Given the description of an element on the screen output the (x, y) to click on. 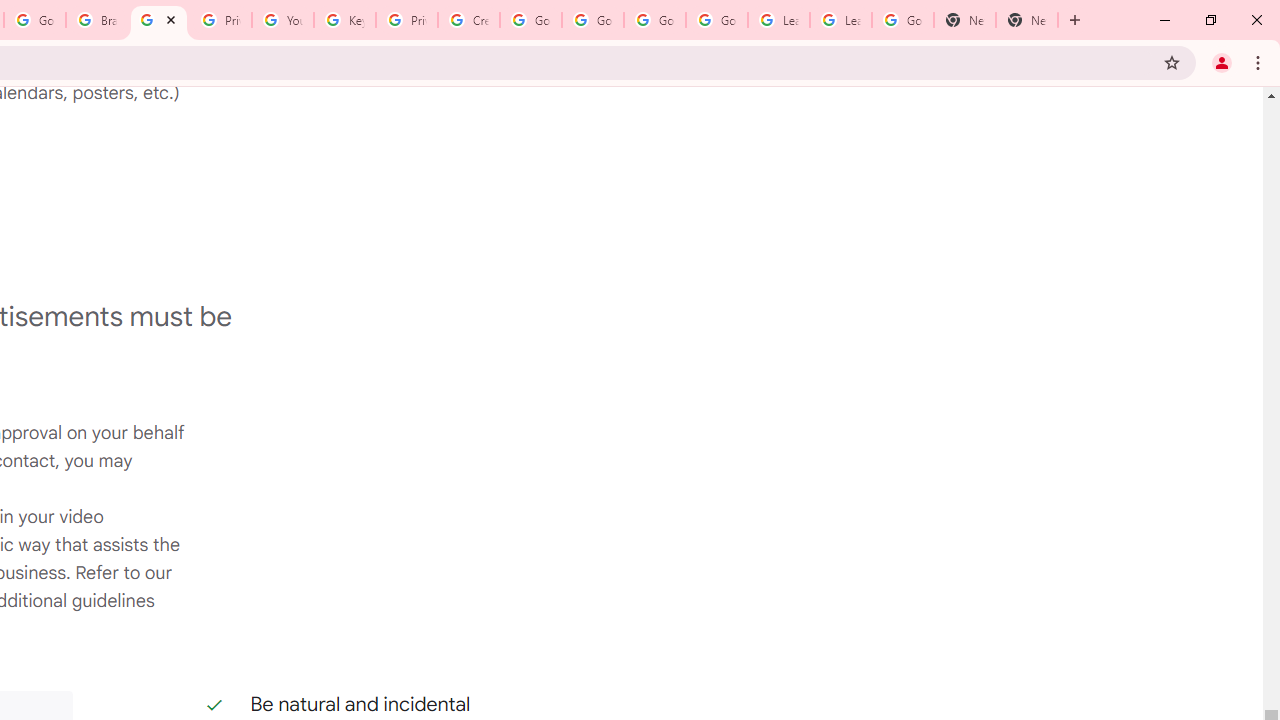
Google Account Help (716, 20)
Google Account Help (592, 20)
Create your Google Account (468, 20)
Google Account (902, 20)
Brand Resource Center (96, 20)
New Tab (964, 20)
New Tab (1026, 20)
Google Account Help (654, 20)
YouTube (282, 20)
